Given the description of an element on the screen output the (x, y) to click on. 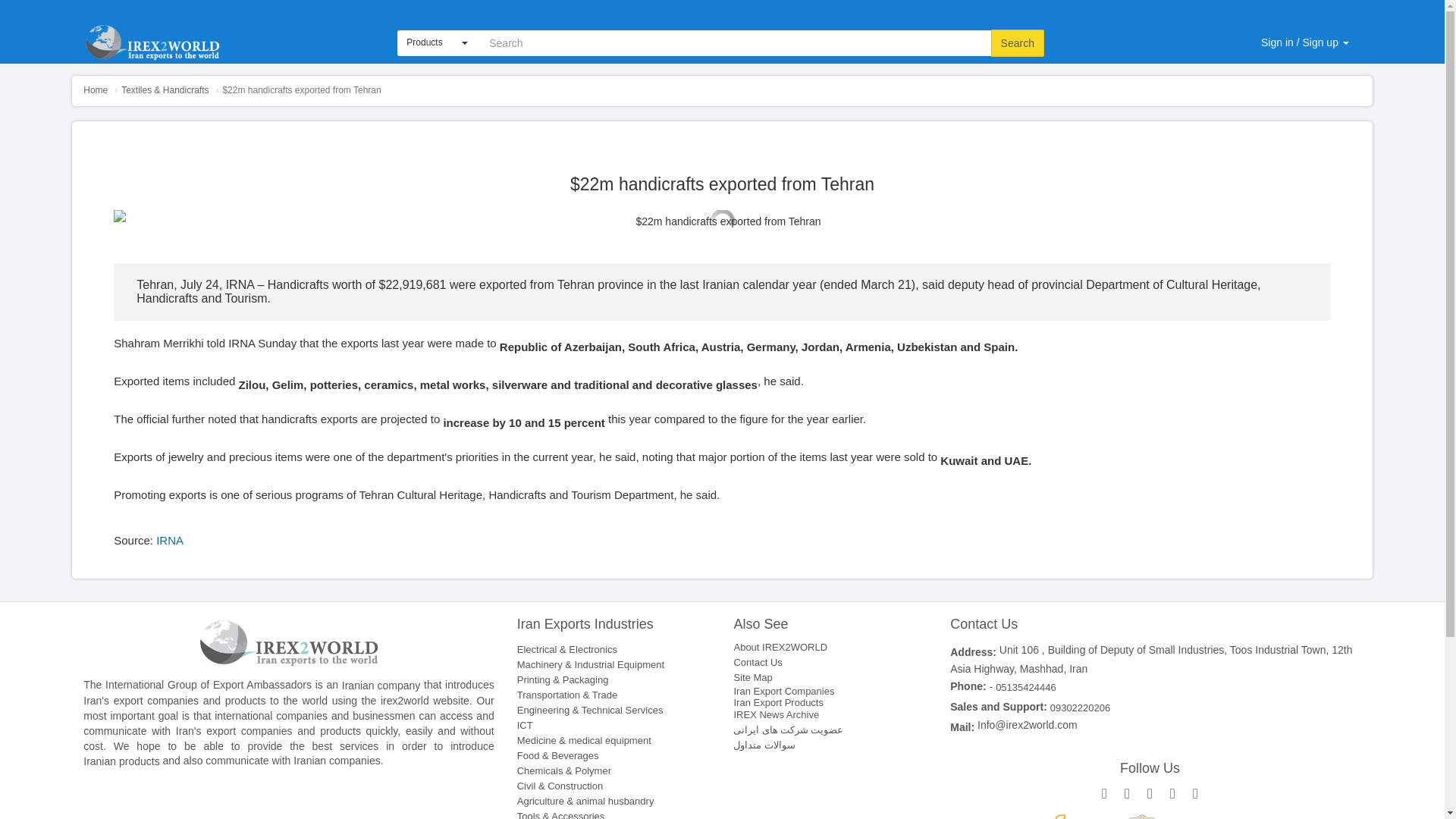
Home (94, 90)
Video Gallery (1001, 4)
Blog (1062, 4)
Site map (930, 4)
Iran's export statistics (1141, 4)
For Buyer (1233, 4)
Products (437, 42)
About us (869, 4)
English (437, 42)
